Given the description of an element on the screen output the (x, y) to click on. 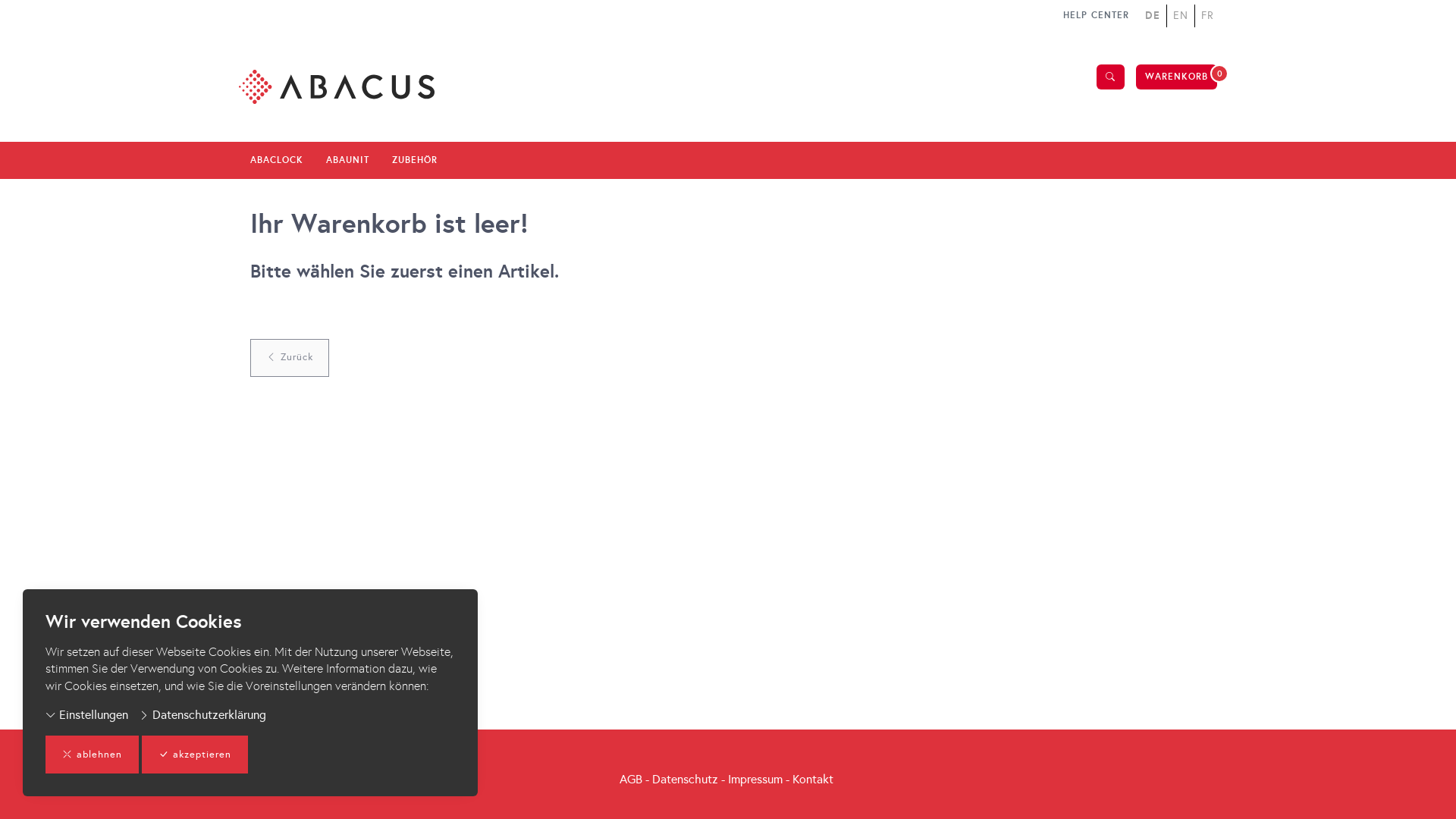
DE Element type: text (1154, 14)
ABACLOCK Element type: text (276, 159)
akzeptieren Element type: text (194, 754)
Einstellungen Element type: text (86, 715)
ABAUNIT Element type: text (347, 159)
Impressum Element type: text (755, 778)
Kontakt Element type: text (812, 778)
Datenschutz Element type: text (685, 778)
EN Element type: text (1178, 15)
AGB Element type: text (630, 778)
ablehnen Element type: text (91, 754)
Suche Element type: hover (1110, 76)
WARENKORB Element type: text (1176, 76)
HELP CENTER Element type: text (1096, 15)
FR Element type: text (1205, 15)
